Given the description of an element on the screen output the (x, y) to click on. 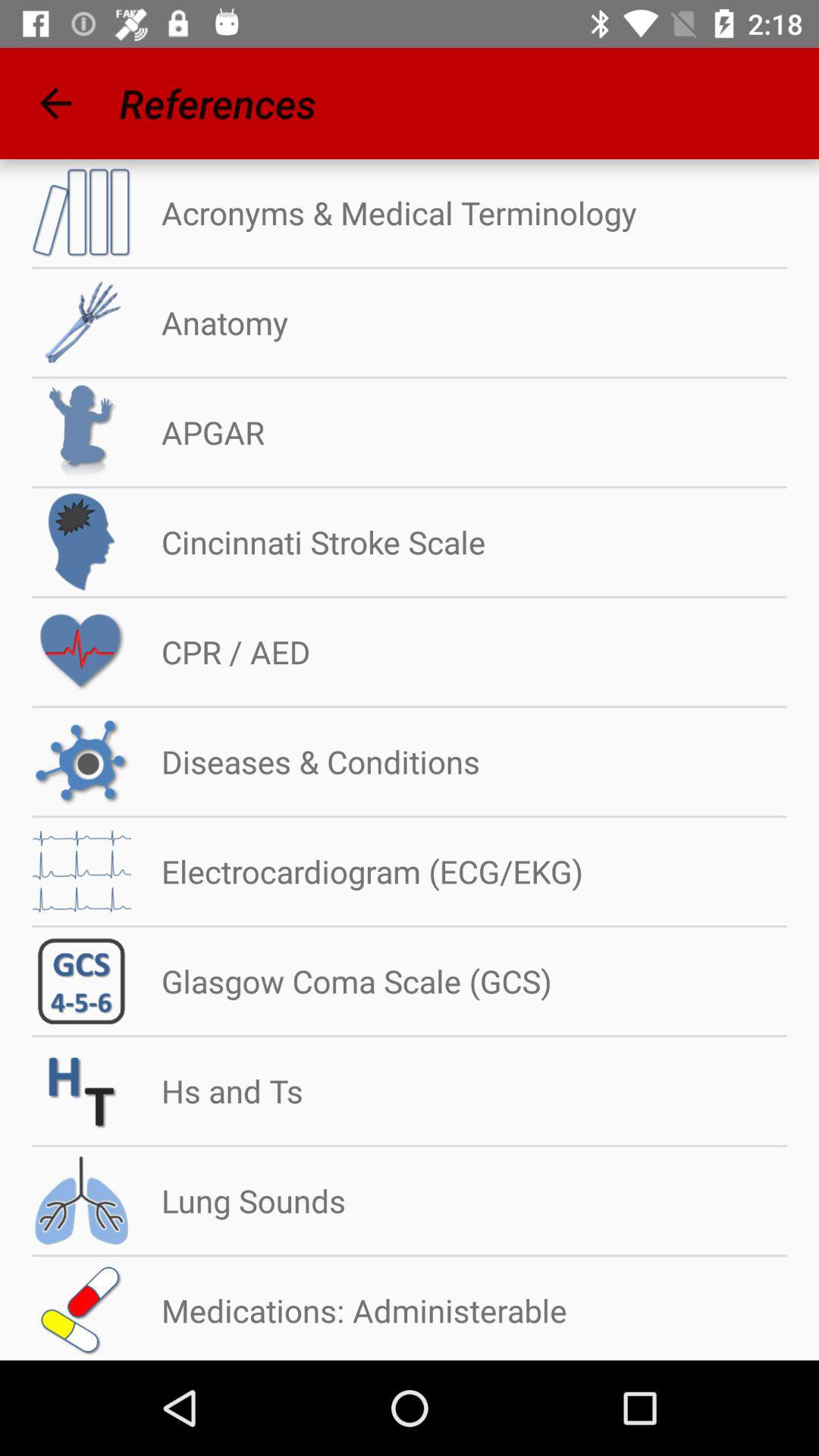
jump until the hs and ts icon (217, 1090)
